Given the description of an element on the screen output the (x, y) to click on. 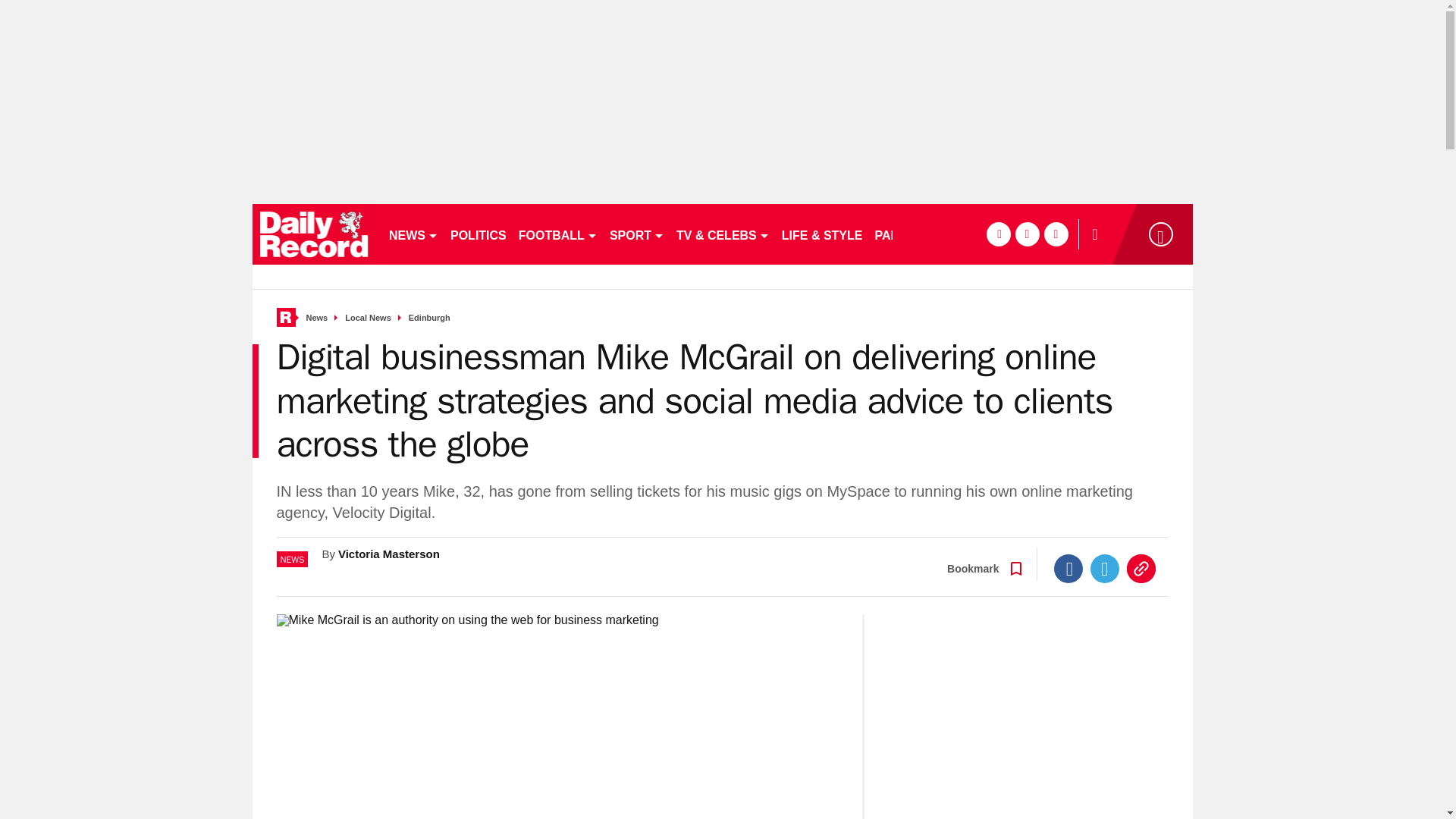
instagram (1055, 233)
NEWS (413, 233)
SPORT (636, 233)
POLITICS (478, 233)
dailyrecord (313, 233)
Twitter (1104, 568)
twitter (1026, 233)
FOOTBALL (558, 233)
Facebook (1068, 568)
facebook (997, 233)
